Given the description of an element on the screen output the (x, y) to click on. 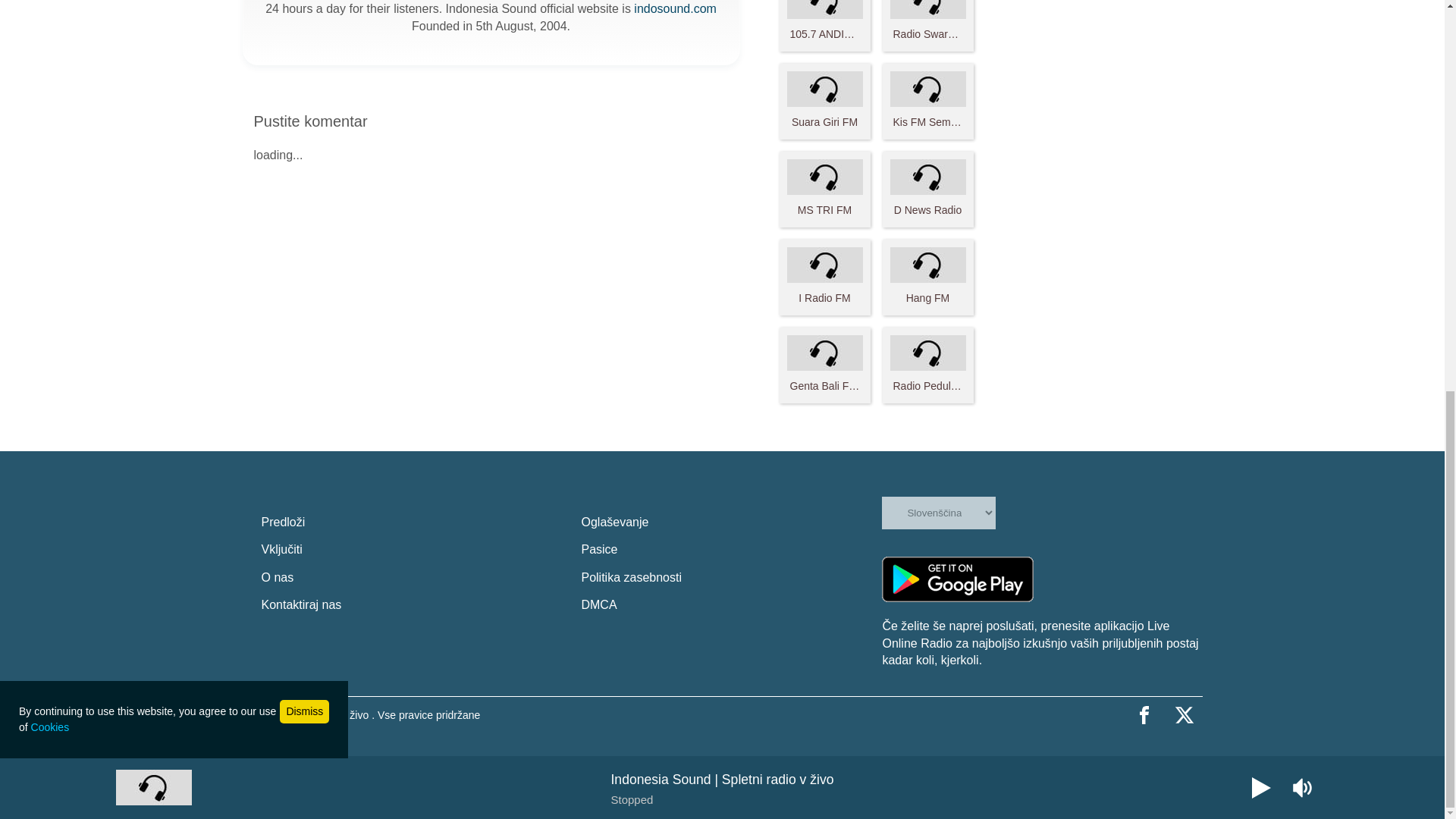
Pasice (731, 549)
Trgovina Google Play (957, 578)
Kis FM Semarang (928, 100)
105.7 ANDIKA FM (824, 24)
MS TRI FM (824, 188)
Suara Giri FM (824, 100)
Kontaktiraj nas (411, 605)
Suara Giri FM (824, 100)
Radio Peduli 96.9 FM (928, 364)
Radio Peduli 96.9 FM (928, 364)
